Given the description of an element on the screen output the (x, y) to click on. 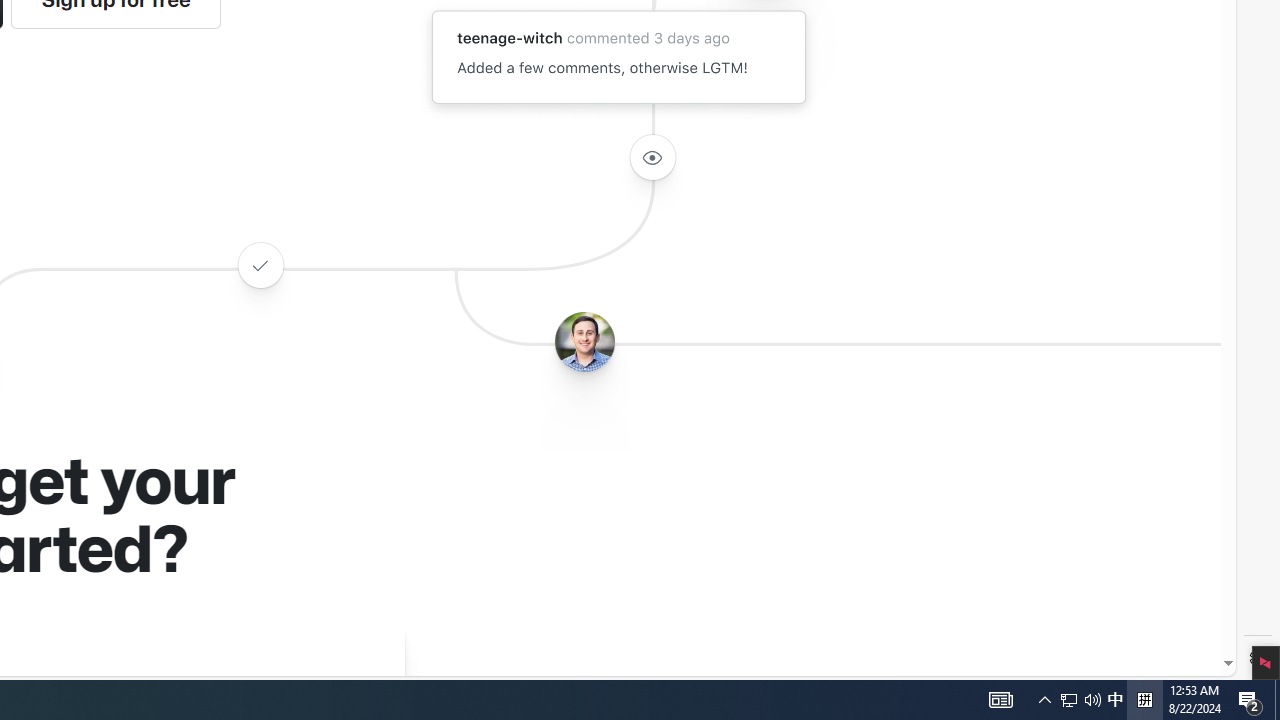
Class: color-fg-muted width-full (260, 264)
Avatar of the user benbalter (584, 341)
